Given the description of an element on the screen output the (x, y) to click on. 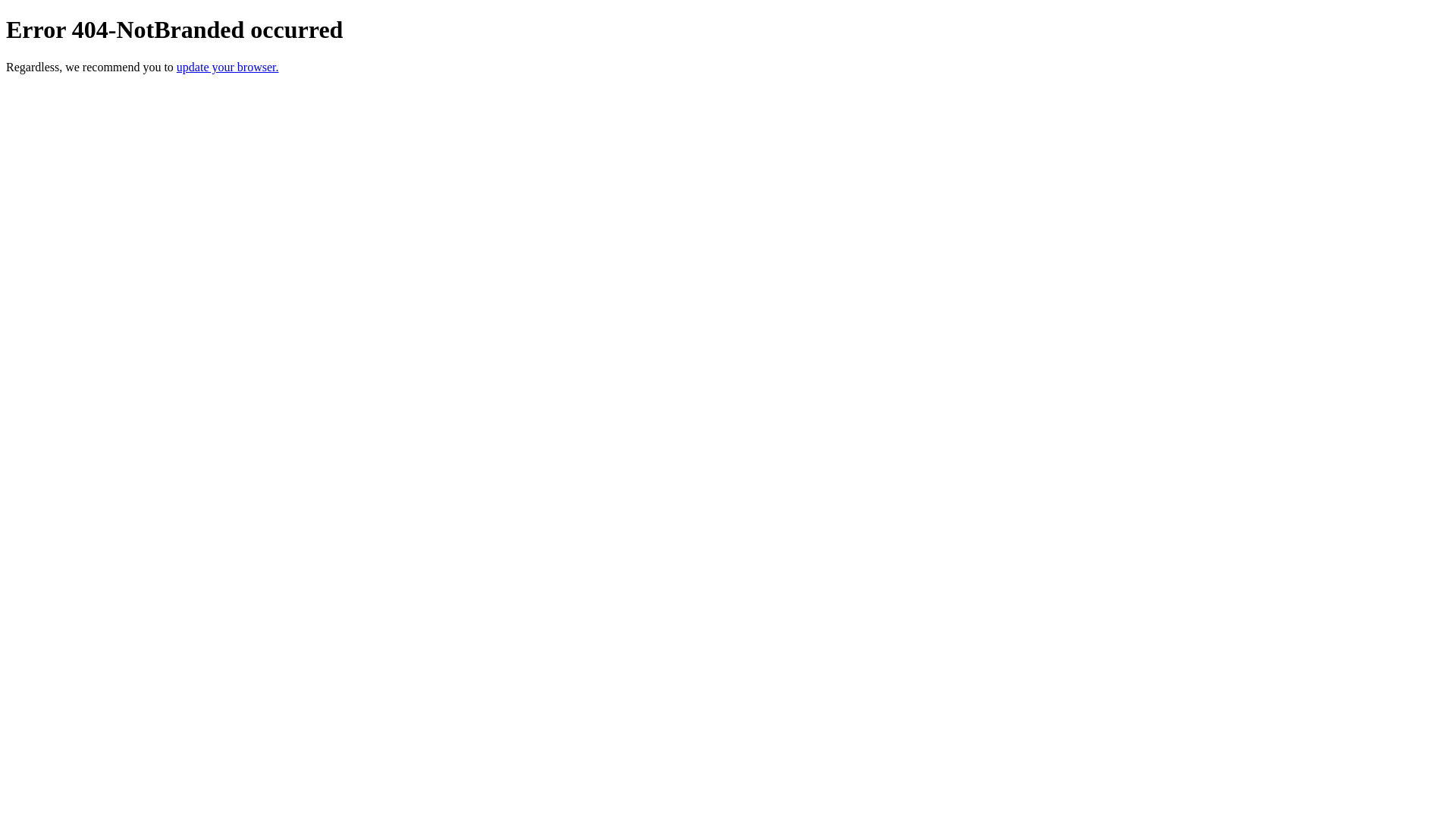
update your browser. Element type: text (227, 66)
